Given the description of an element on the screen output the (x, y) to click on. 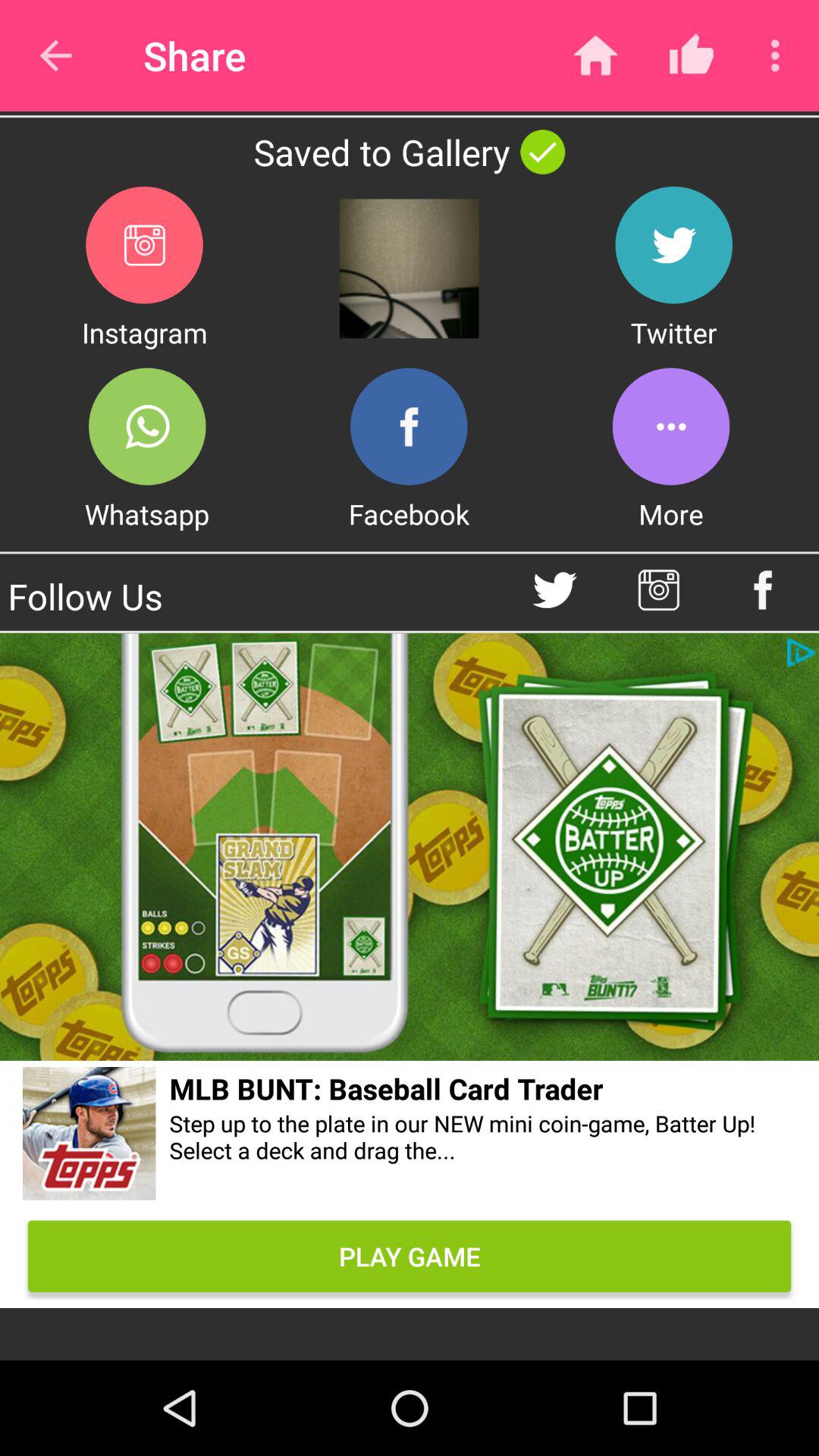
go to the add (409, 846)
